Given the description of an element on the screen output the (x, y) to click on. 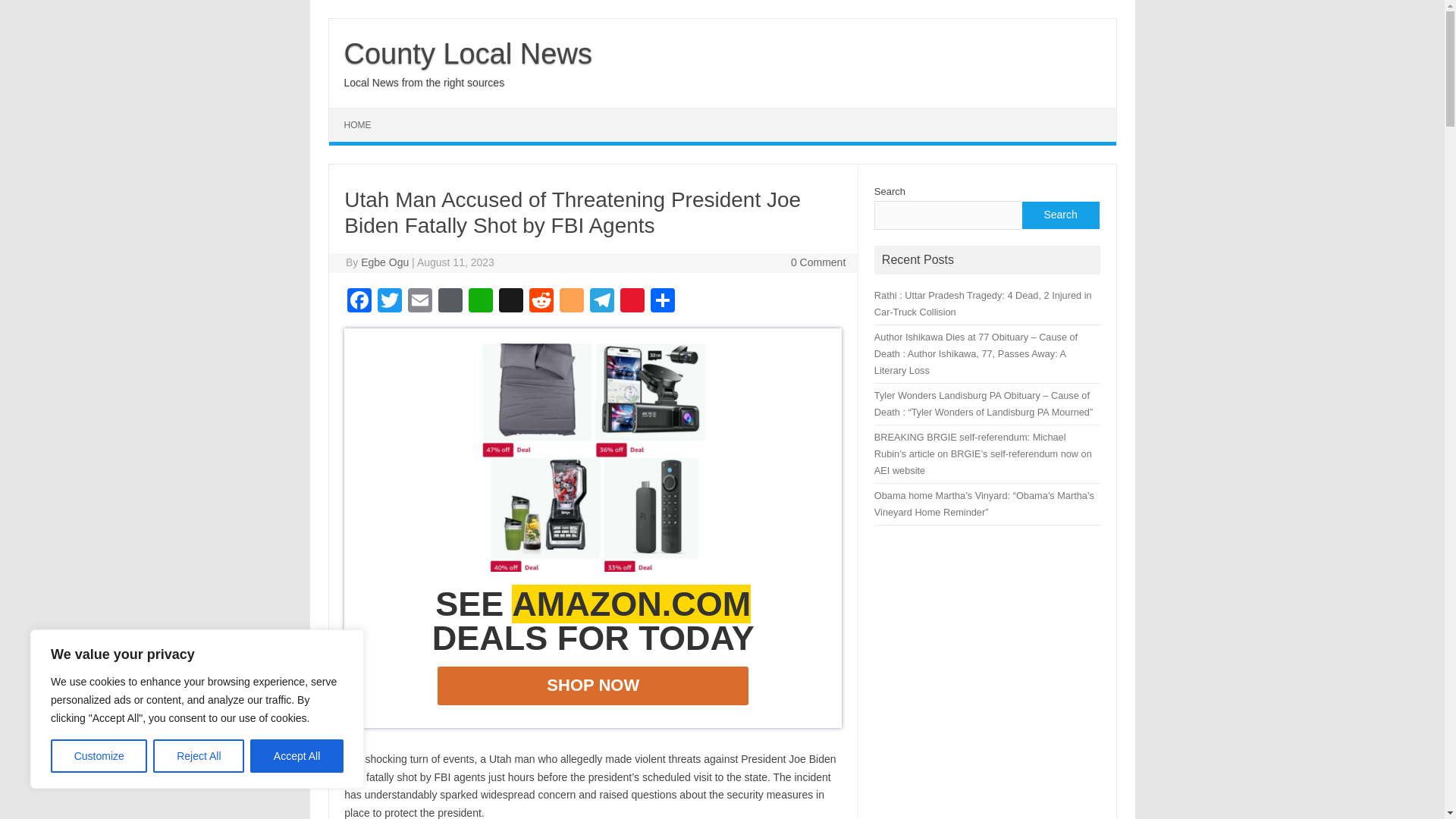
Accept All (296, 756)
Telegram (601, 302)
Twitter (389, 302)
Telegram (601, 302)
Twitter (389, 302)
Blogger (571, 302)
Share (662, 302)
Blogger (571, 302)
Reddit (540, 302)
